Given the description of an element on the screen output the (x, y) to click on. 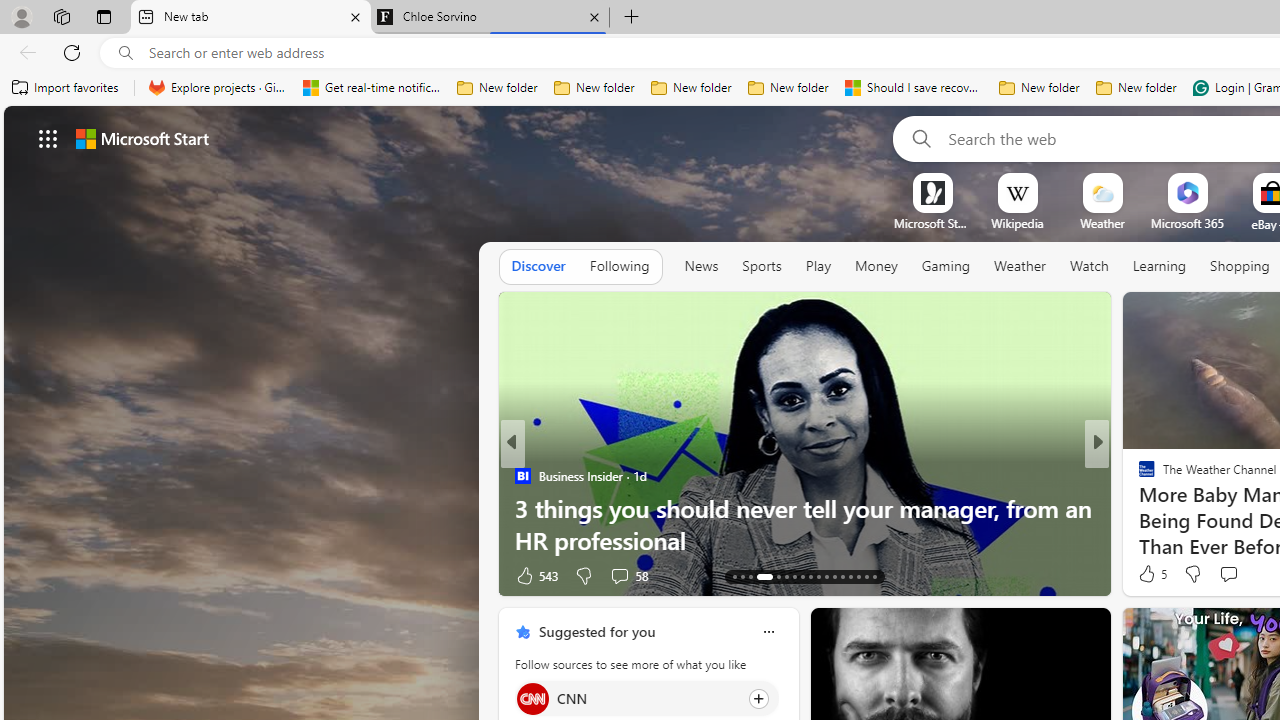
269 Like (1151, 574)
View comments 1 Comment (1234, 574)
AutomationID: tab-20 (801, 576)
AutomationID: tab-19 (793, 576)
75 Like (1149, 574)
AutomationID: tab-24 (833, 576)
AutomationID: tab-21 (810, 576)
